Given the description of an element on the screen output the (x, y) to click on. 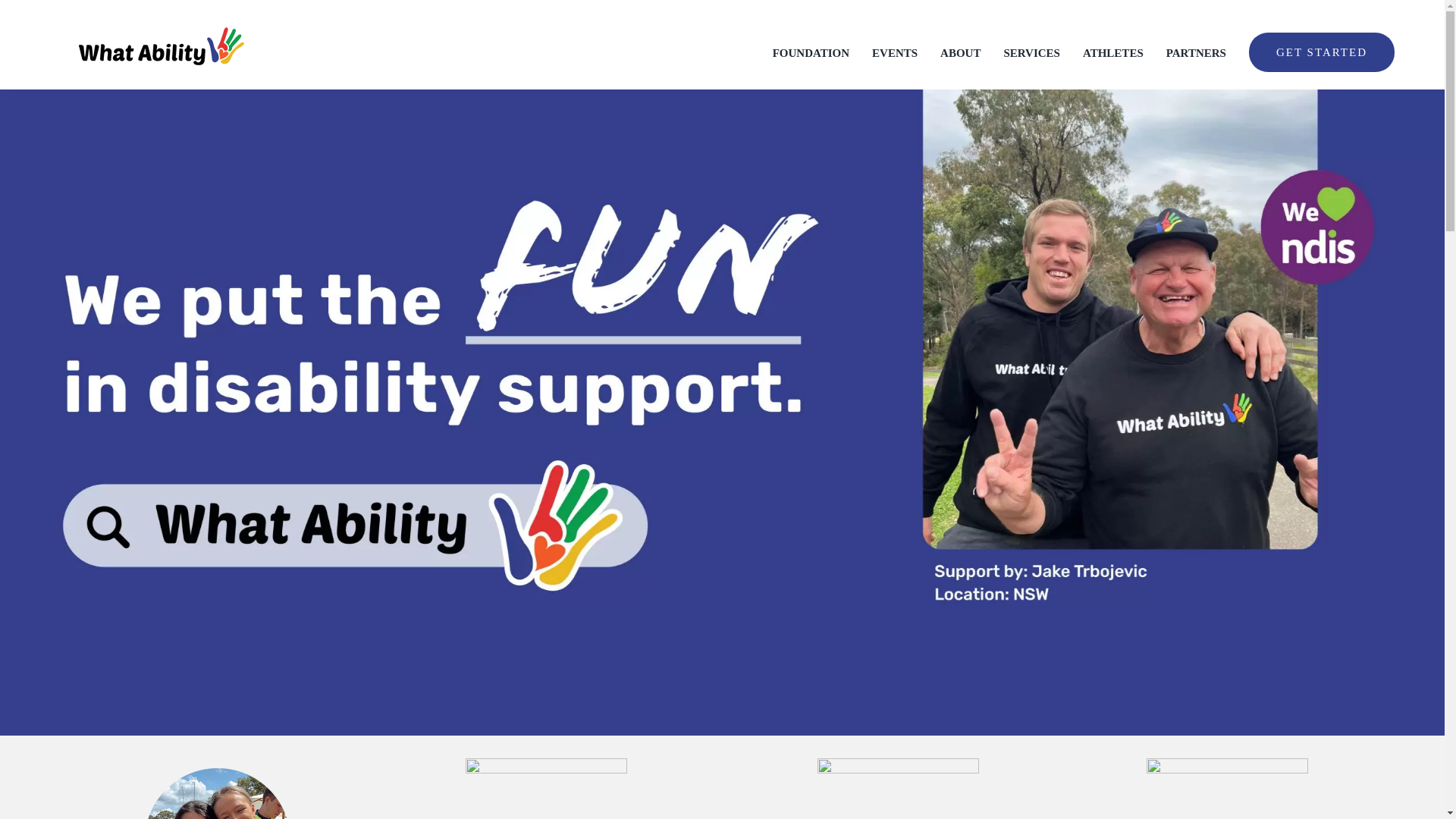
GET STARTED (1321, 53)
support-icon-image (217, 788)
SERVICES (1031, 53)
FOUNDATION (810, 53)
camps-icon-image (546, 788)
need-support-icon-image (897, 788)
EVENTS (894, 53)
PARTNERS (1195, 53)
ATHLETES (1112, 53)
